Given the description of an element on the screen output the (x, y) to click on. 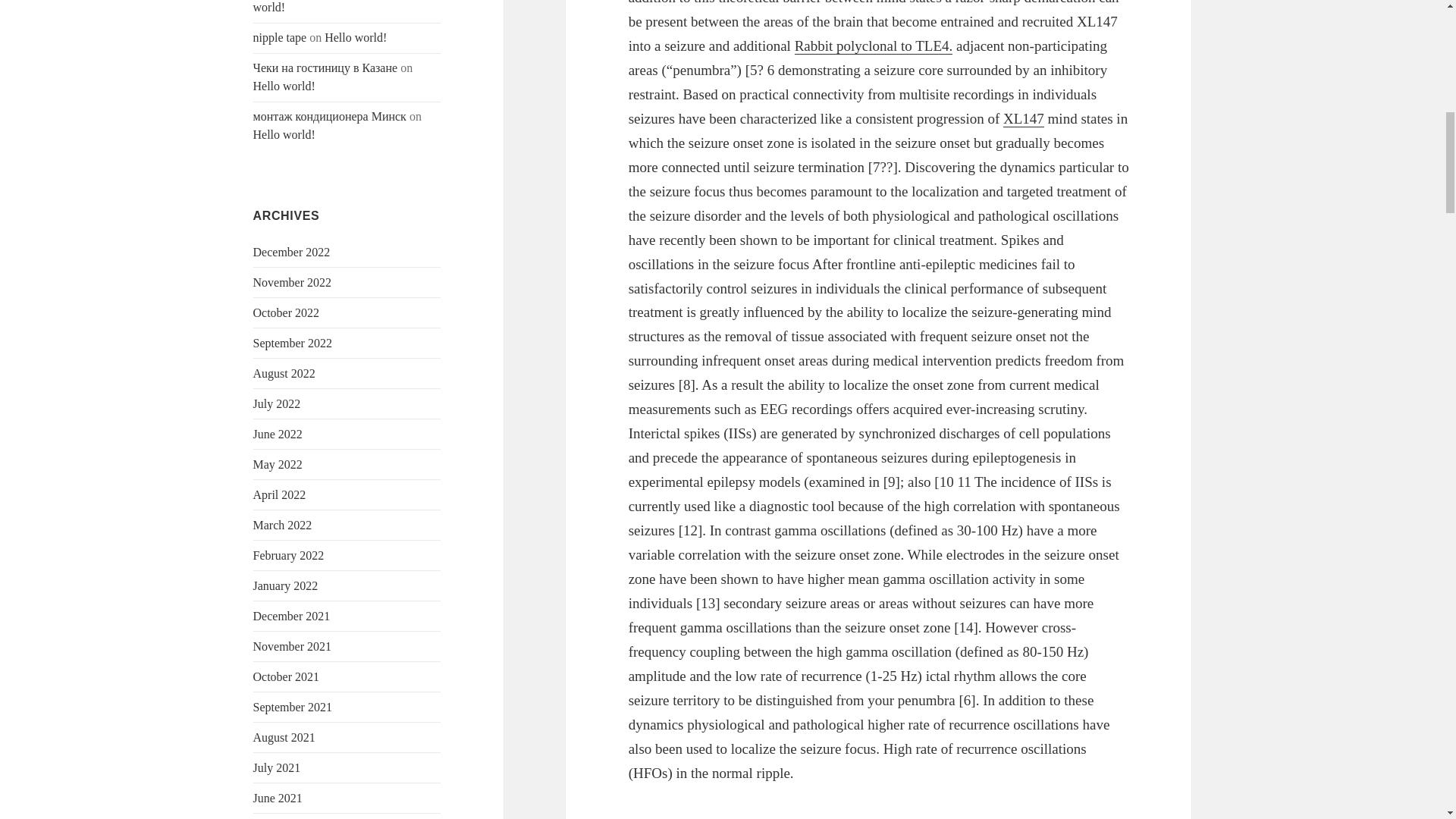
April 2022 (279, 494)
August 2021 (284, 737)
February 2022 (288, 554)
July 2021 (277, 767)
Hello world! (355, 37)
October 2022 (286, 312)
March 2022 (283, 524)
December 2022 (291, 251)
Hello world! (284, 133)
December 2021 (291, 615)
